Given the description of an element on the screen output the (x, y) to click on. 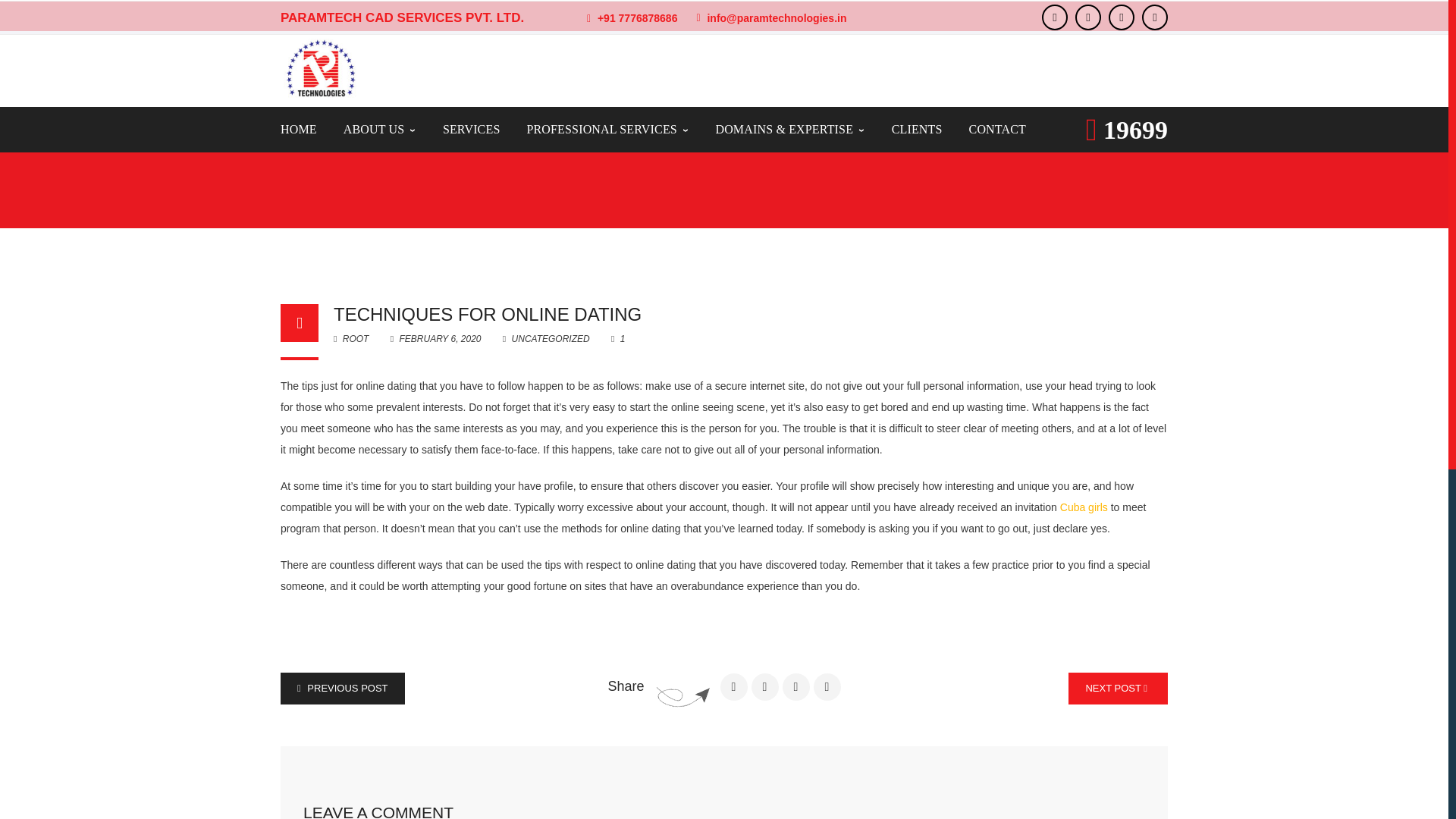
Share on Twitter (764, 687)
CLIENTS (916, 129)
TECHNIQUES FOR ONLINE DATING (487, 313)
ABOUT US (379, 129)
ROOT (350, 338)
 -  (319, 68)
Techniques for Online Dating (487, 313)
CONTACT (997, 129)
FEBRUARY 6, 2020 (436, 338)
UNCATEGORIZED (347, 141)
